Given the description of an element on the screen output the (x, y) to click on. 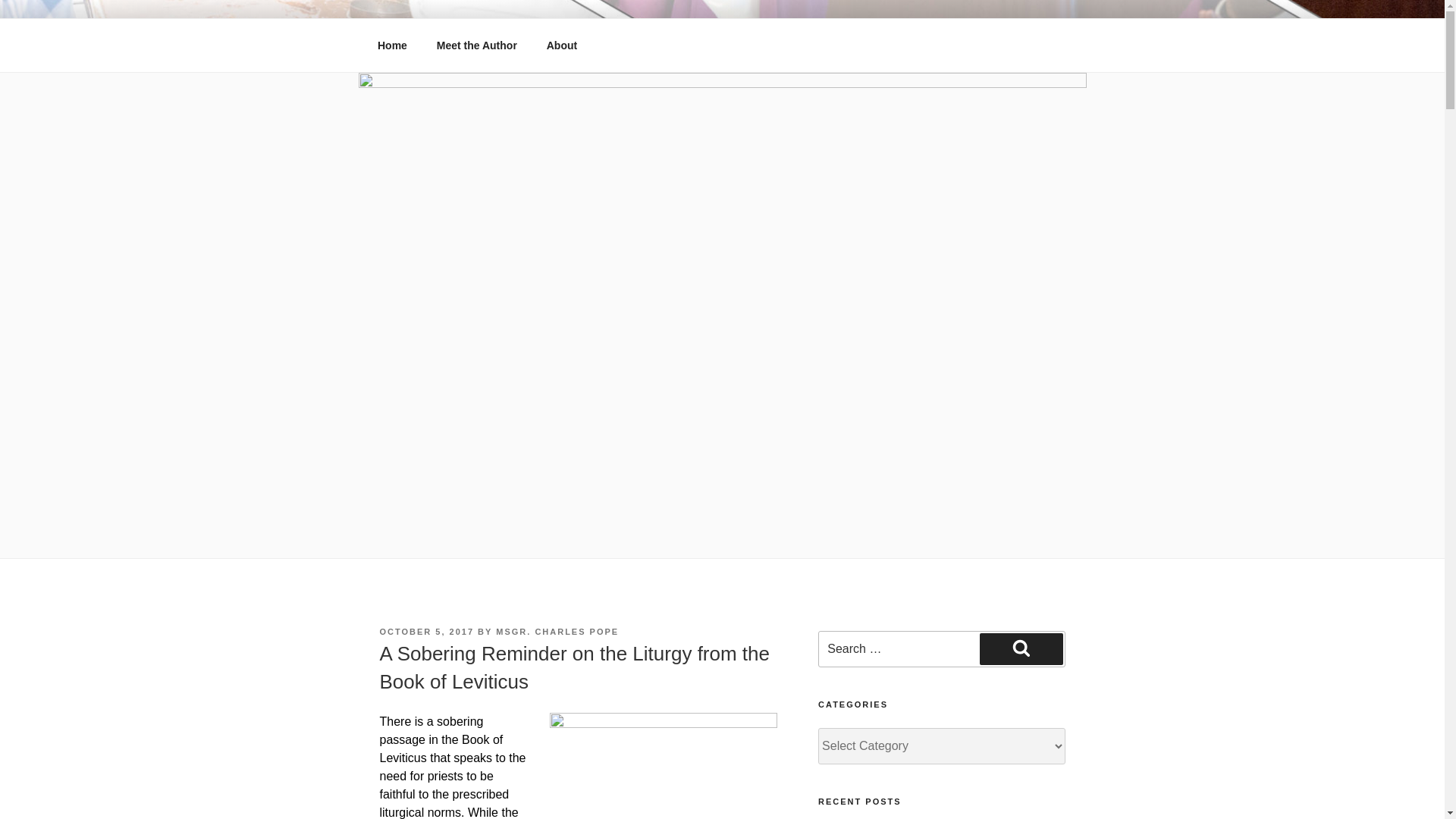
COMMUNITY IN MISSION (563, 52)
Meet the Author (476, 45)
About (560, 45)
OCTOBER 5, 2017 (426, 631)
MSGR. CHARLES POPE (557, 631)
Search (1020, 649)
Home (392, 45)
